Given the description of an element on the screen output the (x, y) to click on. 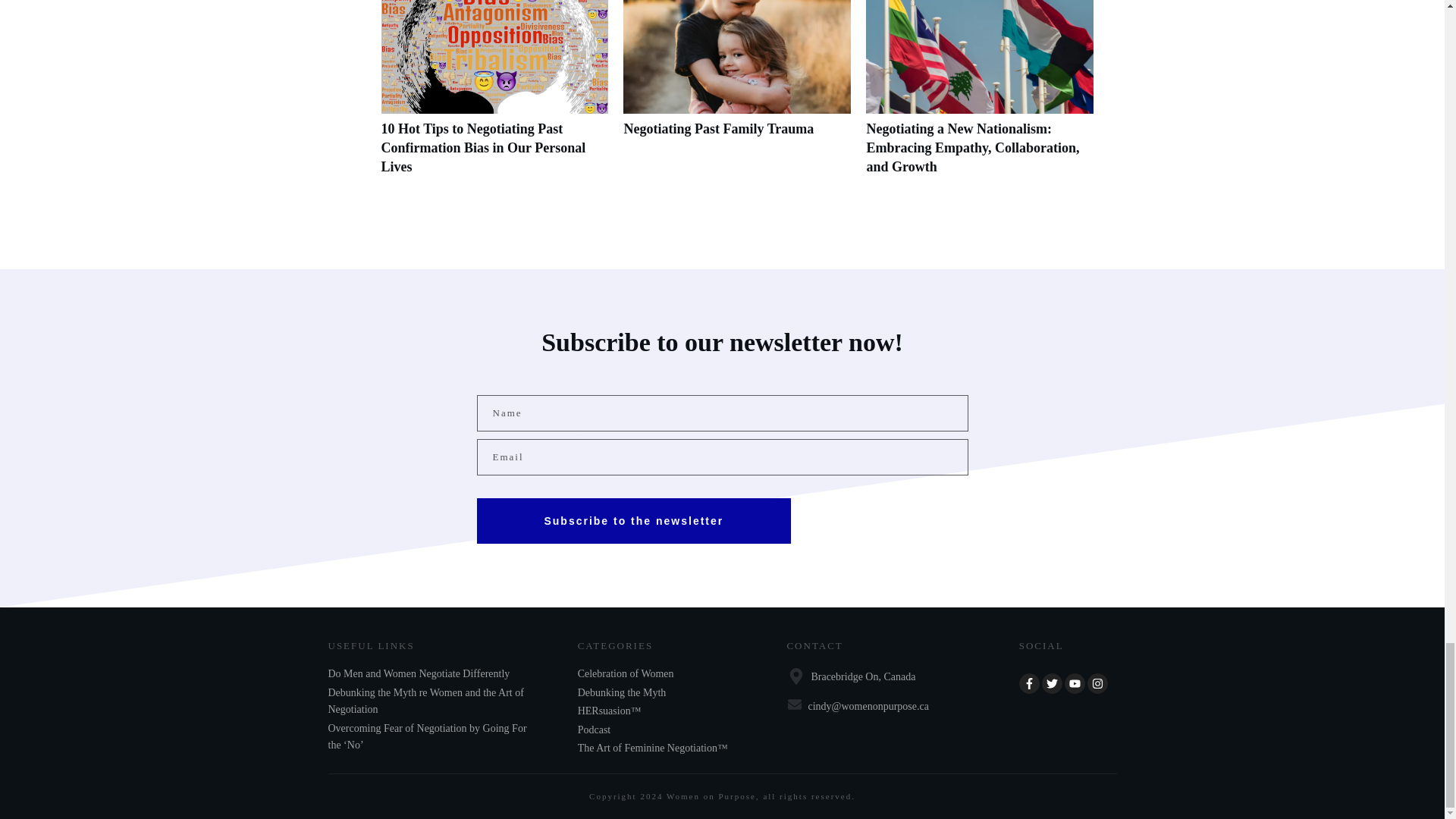
Negotiating Past Family Trauma (718, 128)
